Given the description of an element on the screen output the (x, y) to click on. 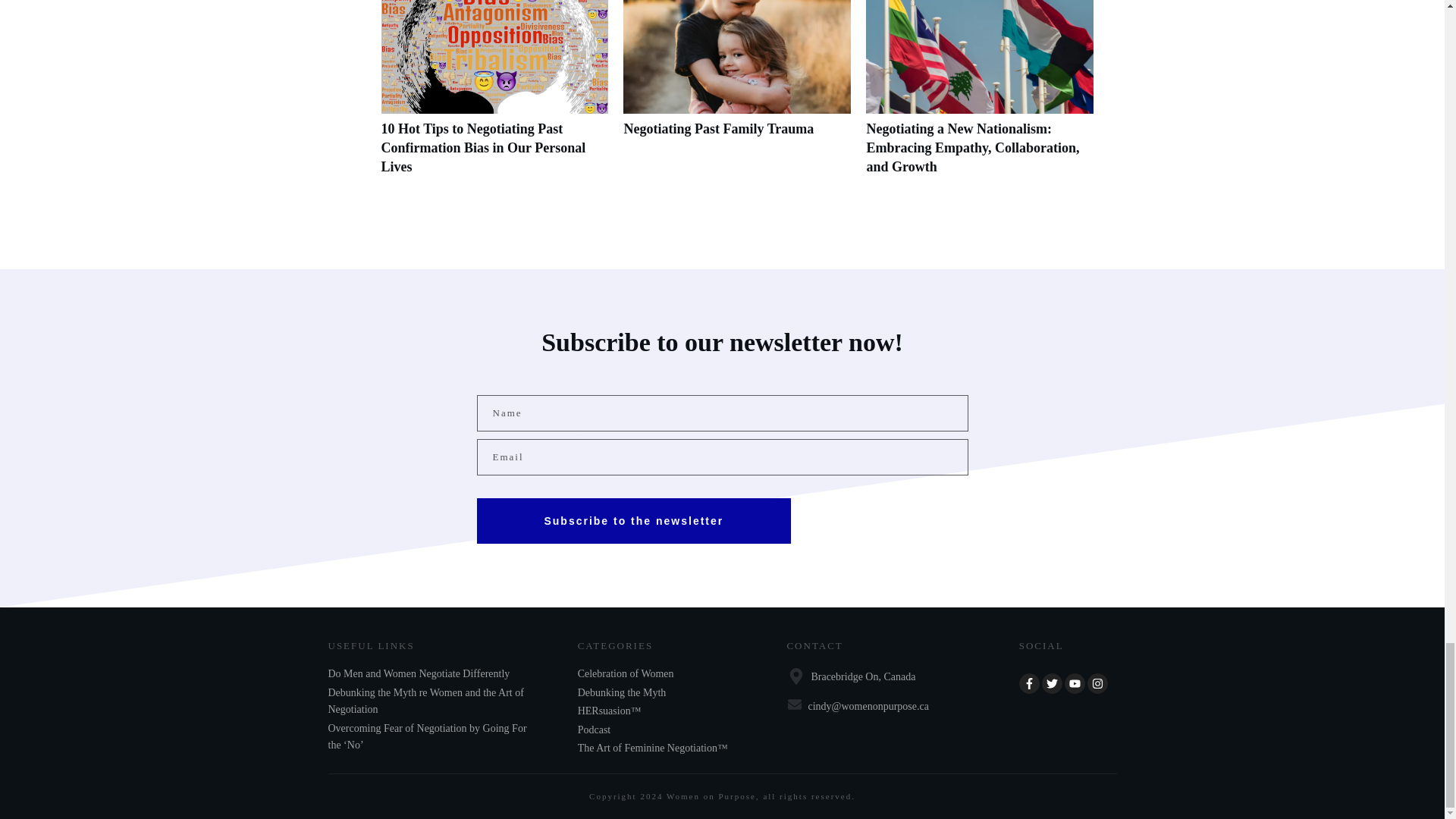
Negotiating Past Family Trauma (718, 128)
